Given the description of an element on the screen output the (x, y) to click on. 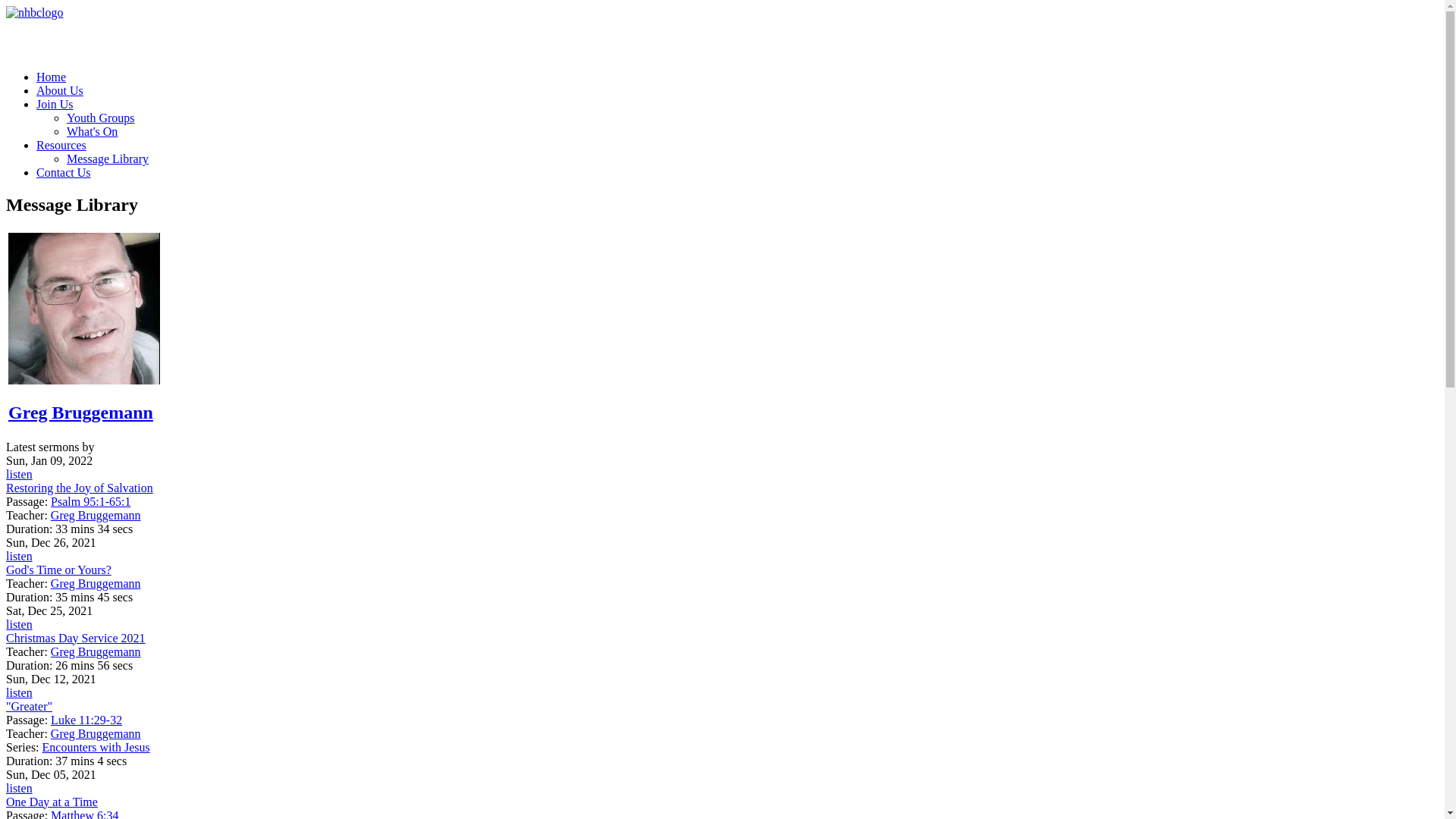
Greg Bruggemann Element type: text (80, 412)
Resources Element type: text (61, 144)
Greg Bruggemann Element type: text (95, 733)
Psalm 95:1-65:1 Element type: text (90, 501)
Youth Groups Element type: text (100, 117)
Greg Bruggemann Element type: text (95, 651)
Greg Bruggemann Element type: text (95, 514)
listen Element type: text (19, 555)
Message Library Element type: text (107, 158)
Contact Us Element type: text (63, 172)
Encounters with Jesus Element type: text (96, 746)
listen Element type: text (19, 473)
About Us Element type: text (59, 90)
listen Element type: text (19, 624)
listen Element type: text (19, 692)
Christmas Day Service 2021 Element type: text (75, 637)
One Day at a Time Element type: text (51, 801)
listen Element type: text (19, 787)
"Greater" Element type: text (29, 705)
Restoring the Joy of Salvation Element type: text (79, 487)
Home Element type: text (50, 76)
Join Us Element type: text (54, 103)
What's On Element type: text (91, 131)
God's Time or Yours? Element type: text (58, 569)
Luke 11:29-32 Element type: text (86, 719)
Greg Bruggemann Element type: text (95, 583)
